Given the description of an element on the screen output the (x, y) to click on. 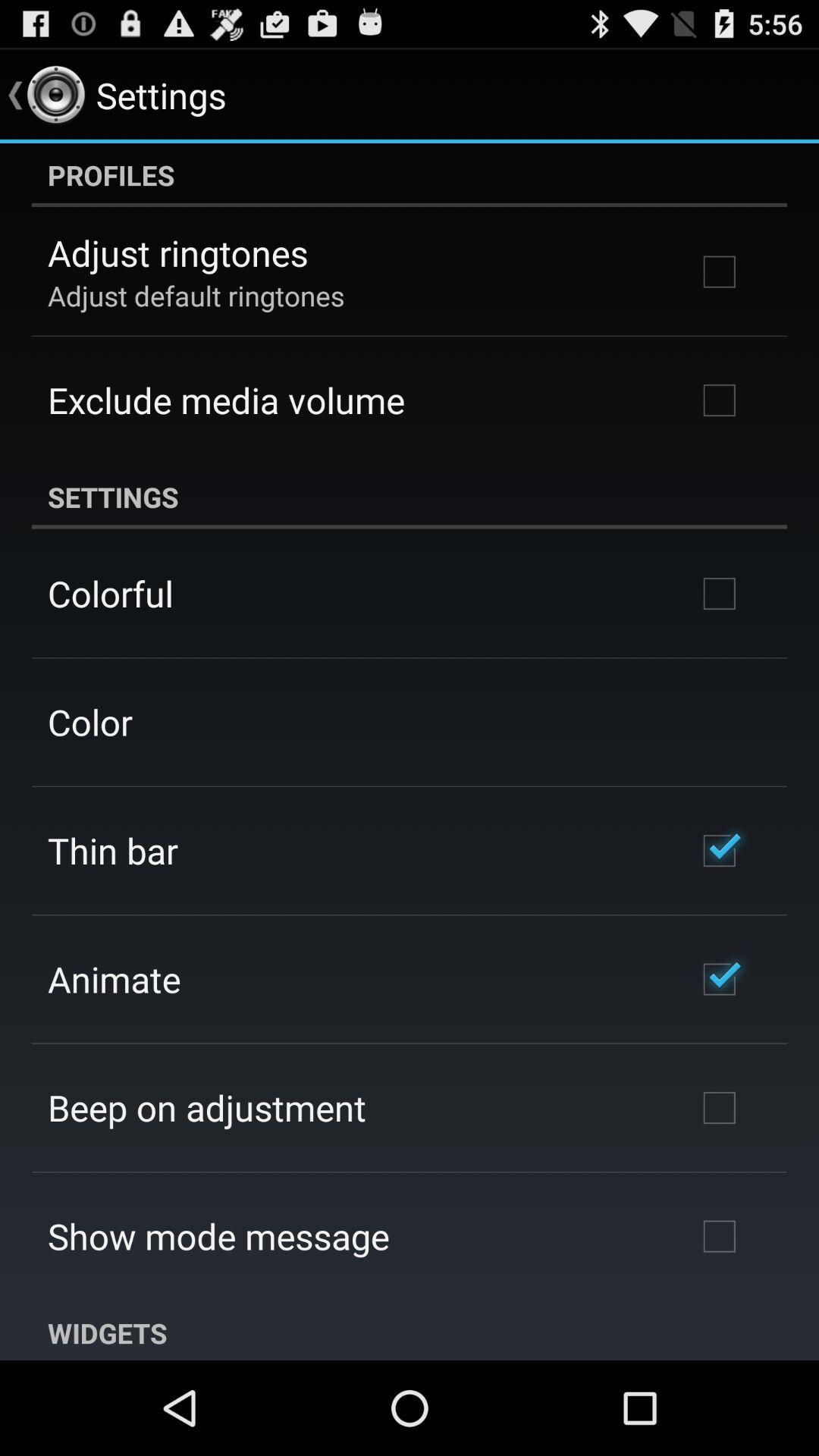
launch the icon above thin bar icon (89, 721)
